Given the description of an element on the screen output the (x, y) to click on. 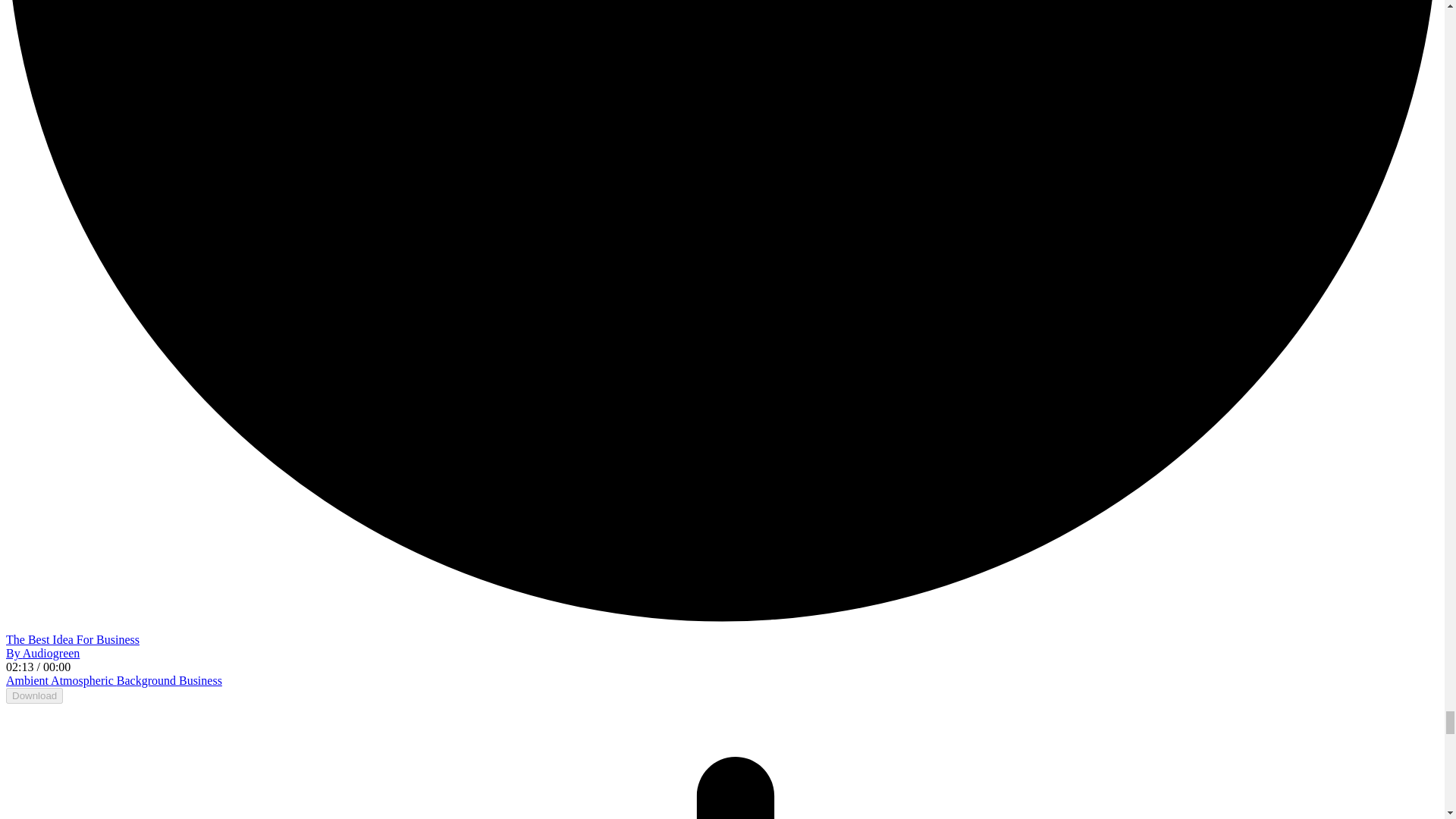
Download (33, 695)
